Given the description of an element on the screen output the (x, y) to click on. 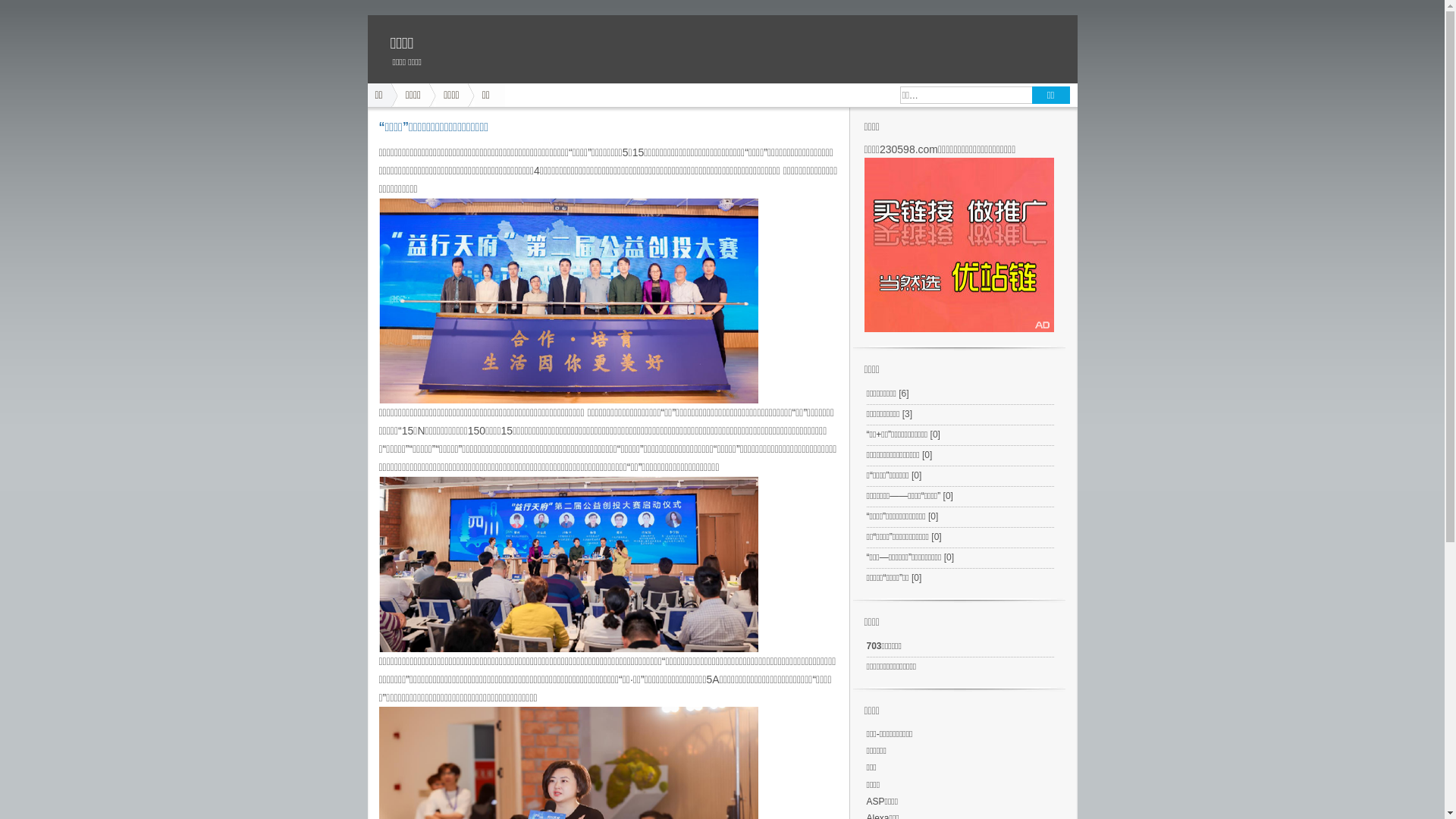
1 Element type: hover (568, 300)
2 Element type: hover (568, 564)
